Given the description of an element on the screen output the (x, y) to click on. 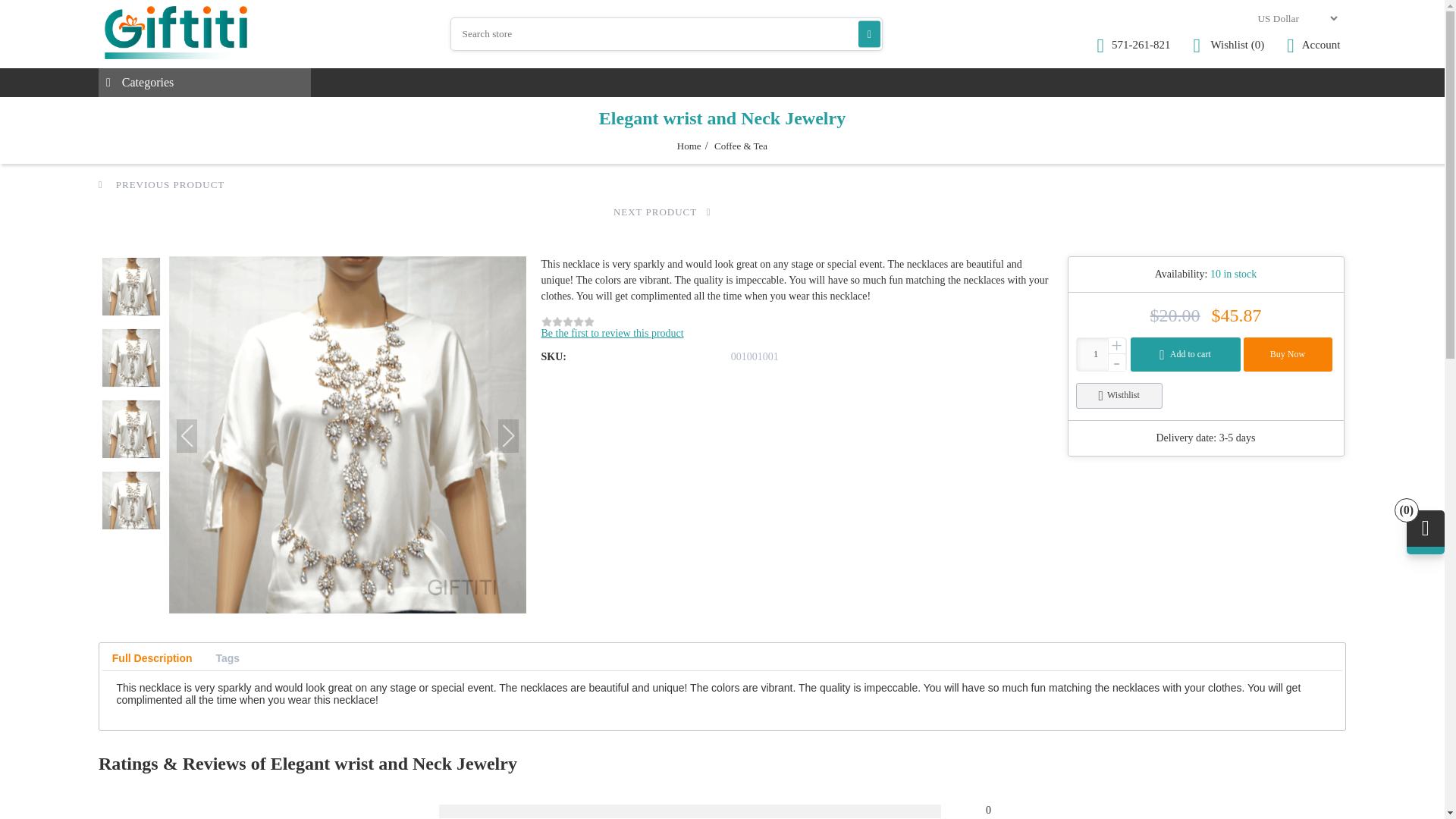
Picture of Elegant wrist and Neck Jewelry (129, 500)
Picture of Elegant wrist and Neck Jewelry (129, 286)
Picture of Elegant wrist and Neck Jewelry (129, 428)
Home (689, 145)
1 (1101, 354)
Picture of Elegant wrist and Neck Jewelry (129, 357)
    PREVIOUS PRODUCT (161, 184)
Categories (205, 82)
Picture of Elegant wrist and Neck Jewelry (346, 434)
Account (1313, 46)
